Given the description of an element on the screen output the (x, y) to click on. 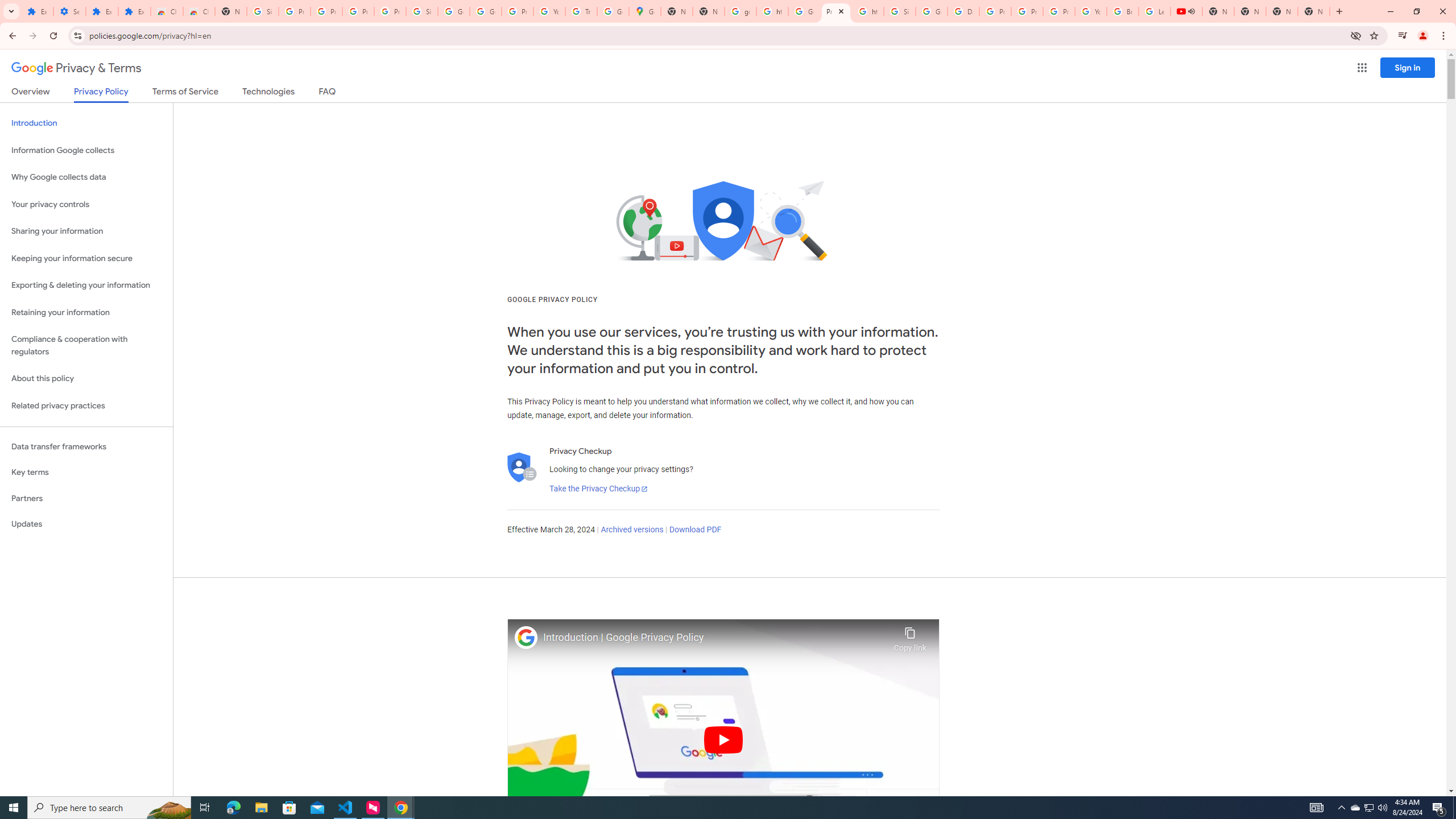
Sharing your information (86, 230)
Copy link (909, 636)
Extensions (101, 11)
Privacy Help Center - Policies Help (995, 11)
